Given the description of an element on the screen output the (x, y) to click on. 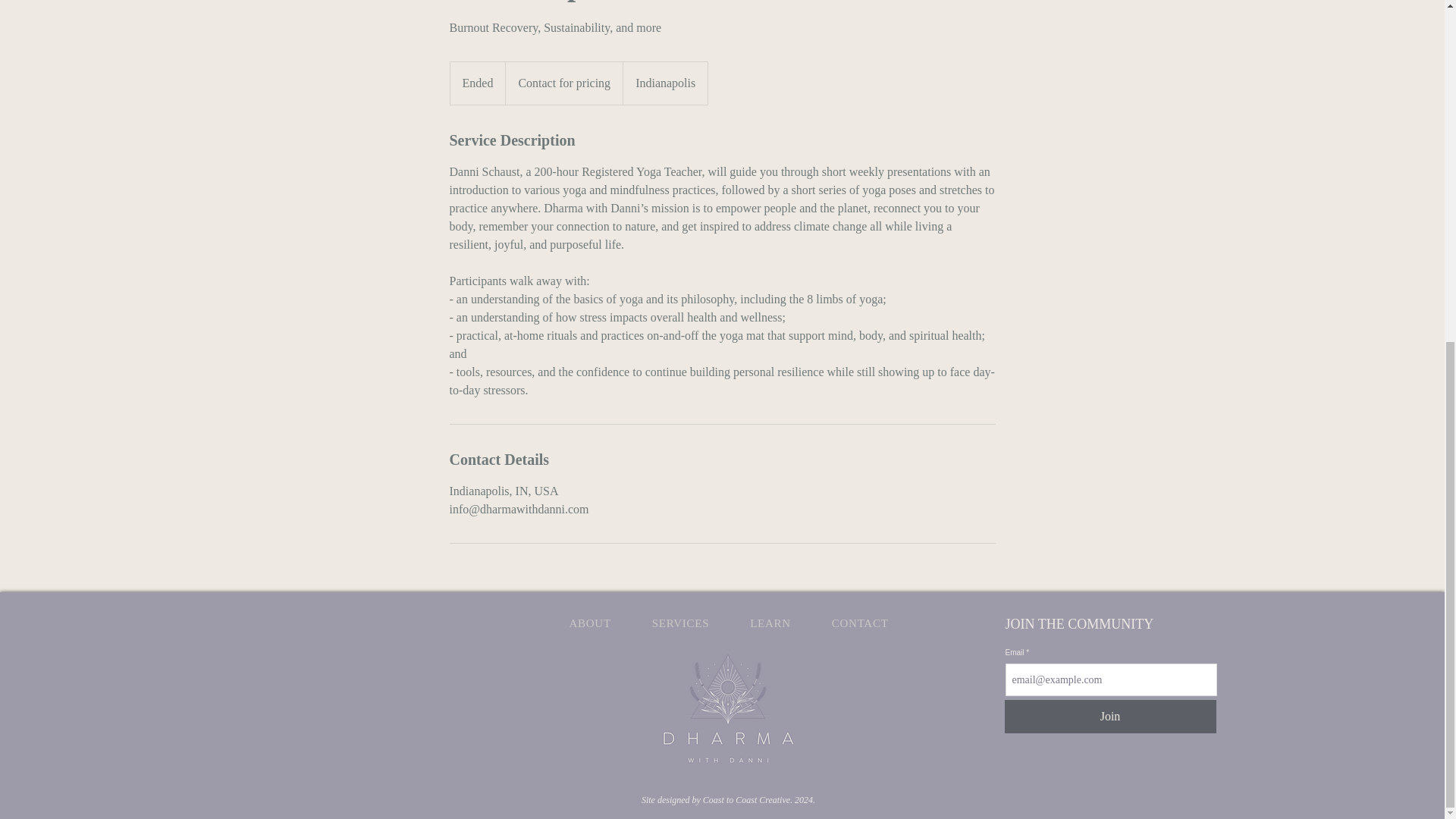
CONTACT (859, 623)
ABOUT (589, 623)
Join (1109, 716)
SERVICES (680, 623)
